Given the description of an element on the screen output the (x, y) to click on. 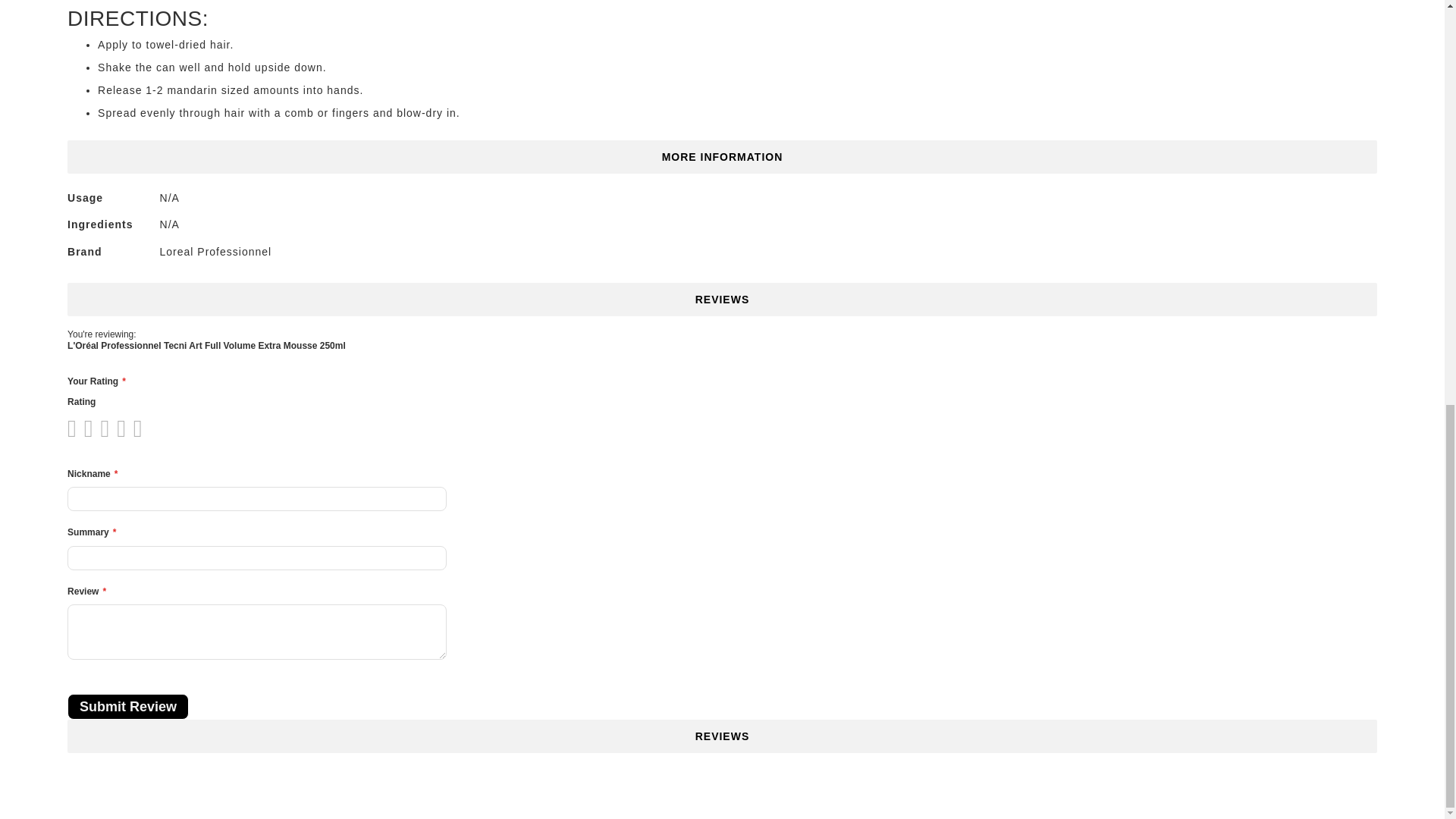
3 stars (91, 428)
4 stars (99, 428)
2 stars (83, 428)
5 stars (107, 428)
